Given the description of an element on the screen output the (x, y) to click on. 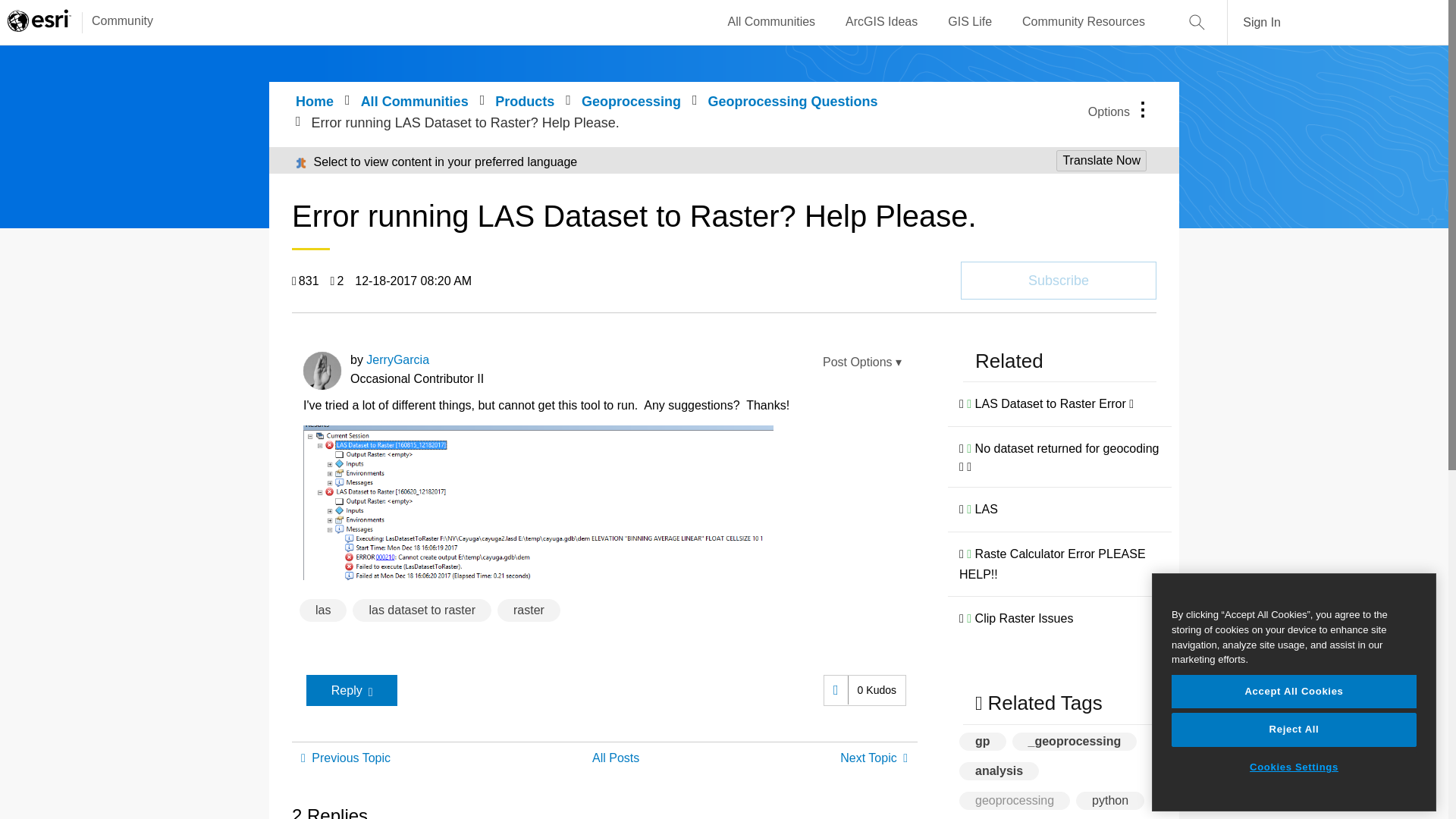
All Communities (772, 22)
Community (114, 22)
